Given the description of an element on the screen output the (x, y) to click on. 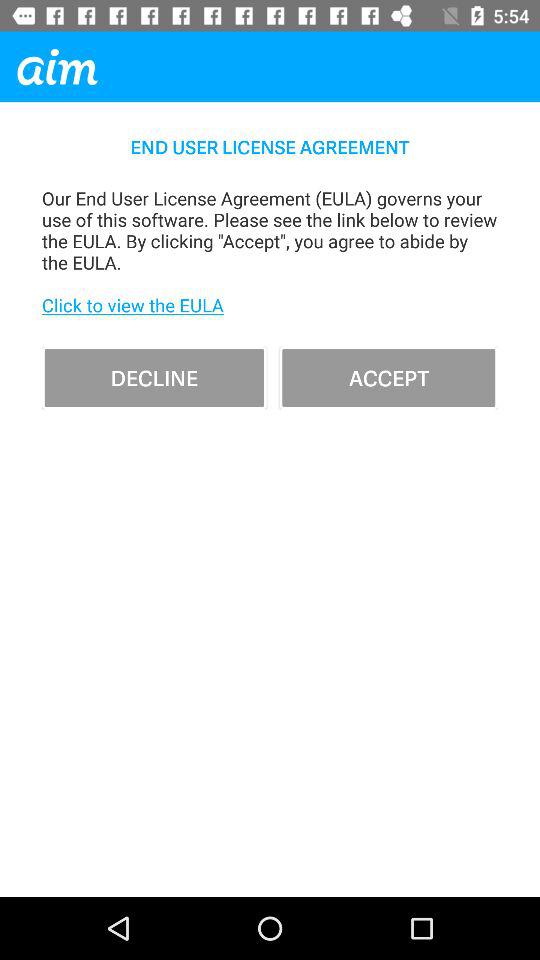
choose item on the left (154, 377)
